Given the description of an element on the screen output the (x, y) to click on. 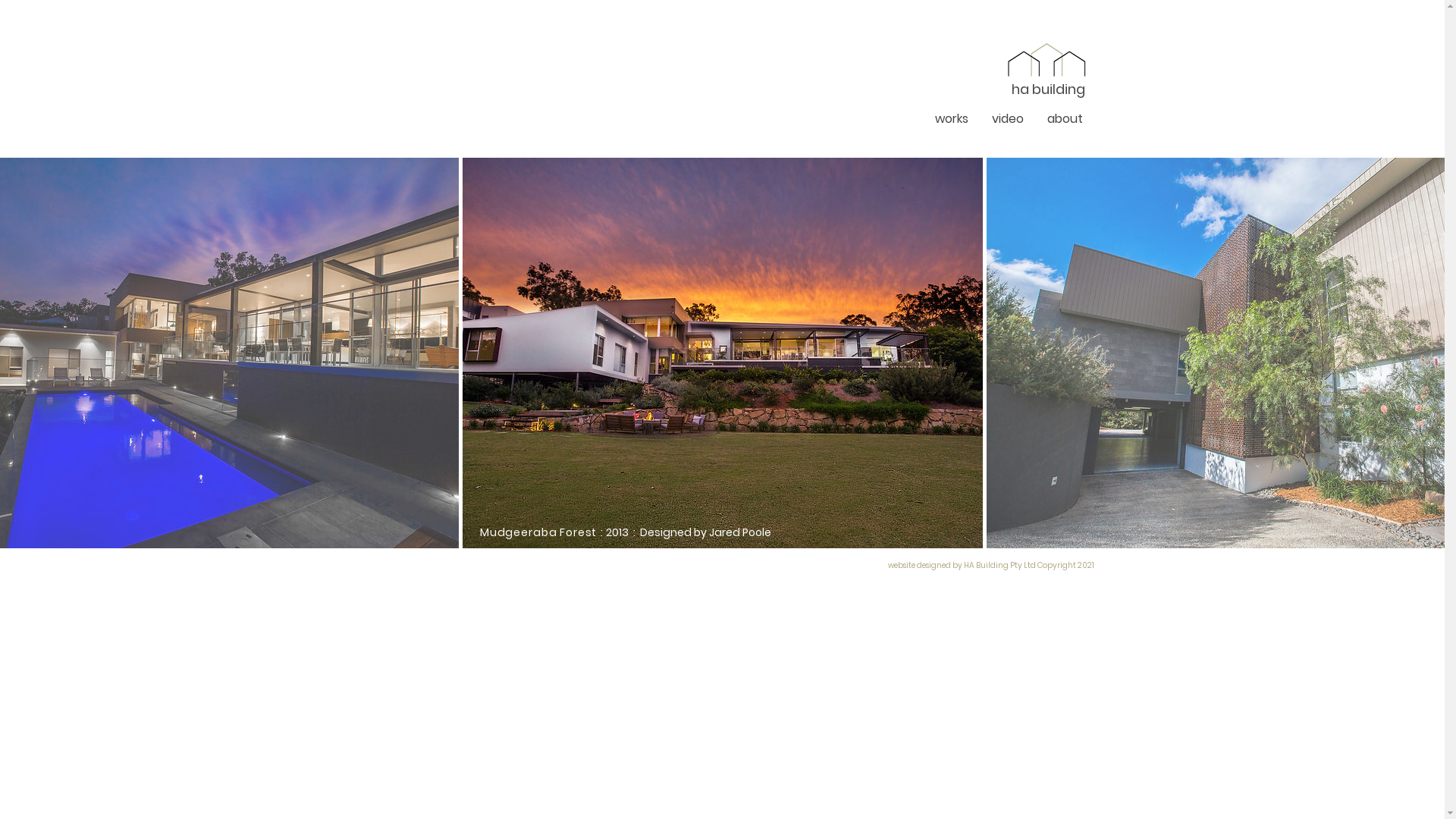
works Element type: text (951, 118)
ha building Element type: text (1048, 90)
about Element type: text (1064, 118)
video Element type: text (1006, 118)
